Given the description of an element on the screen output the (x, y) to click on. 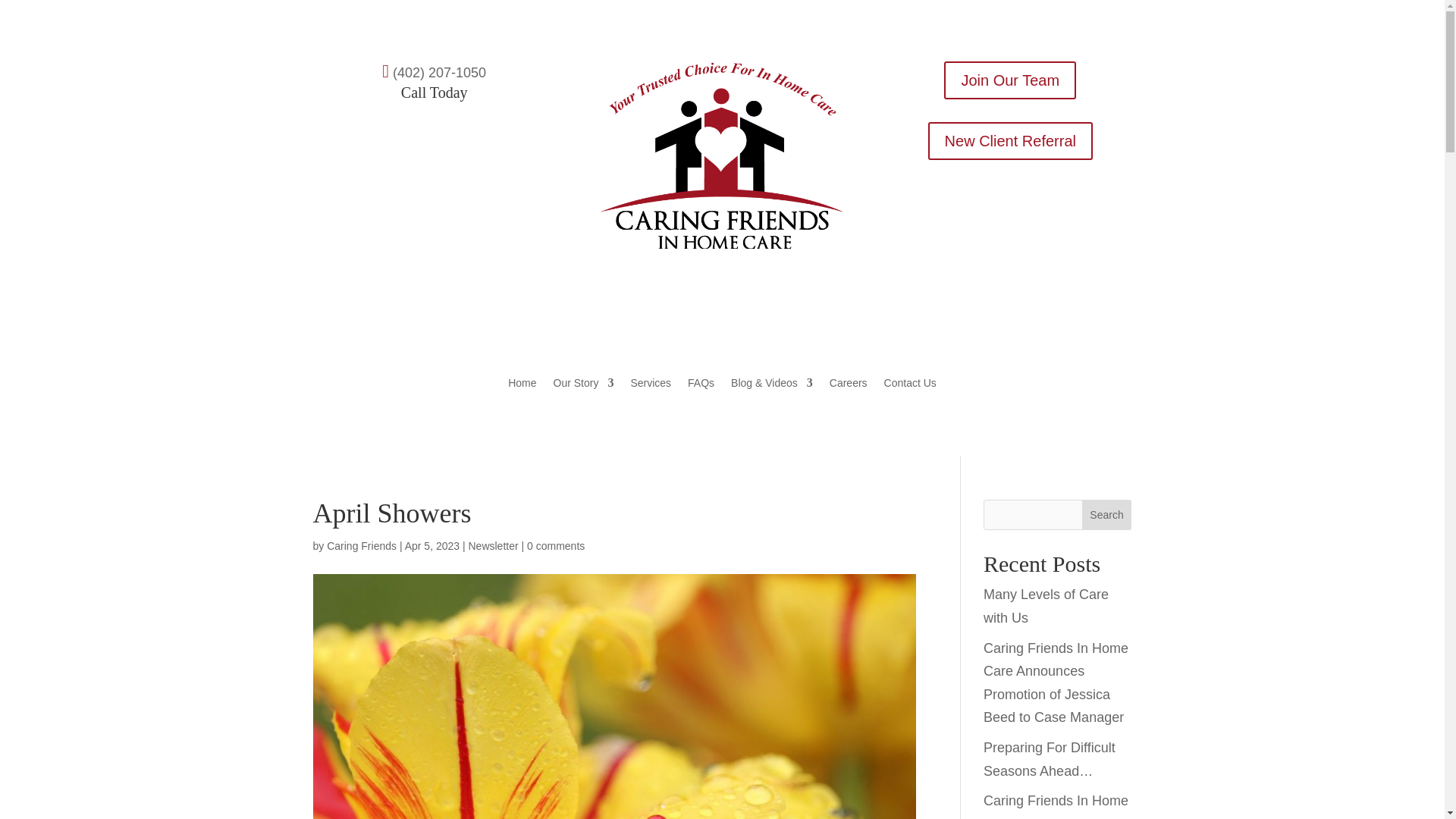
Search (1106, 514)
Home (521, 385)
Join Our Team (1009, 80)
0 comments (556, 545)
Our Story (583, 385)
New Client Referral (1010, 140)
Careers (848, 385)
Services (650, 385)
